Given the description of an element on the screen output the (x, y) to click on. 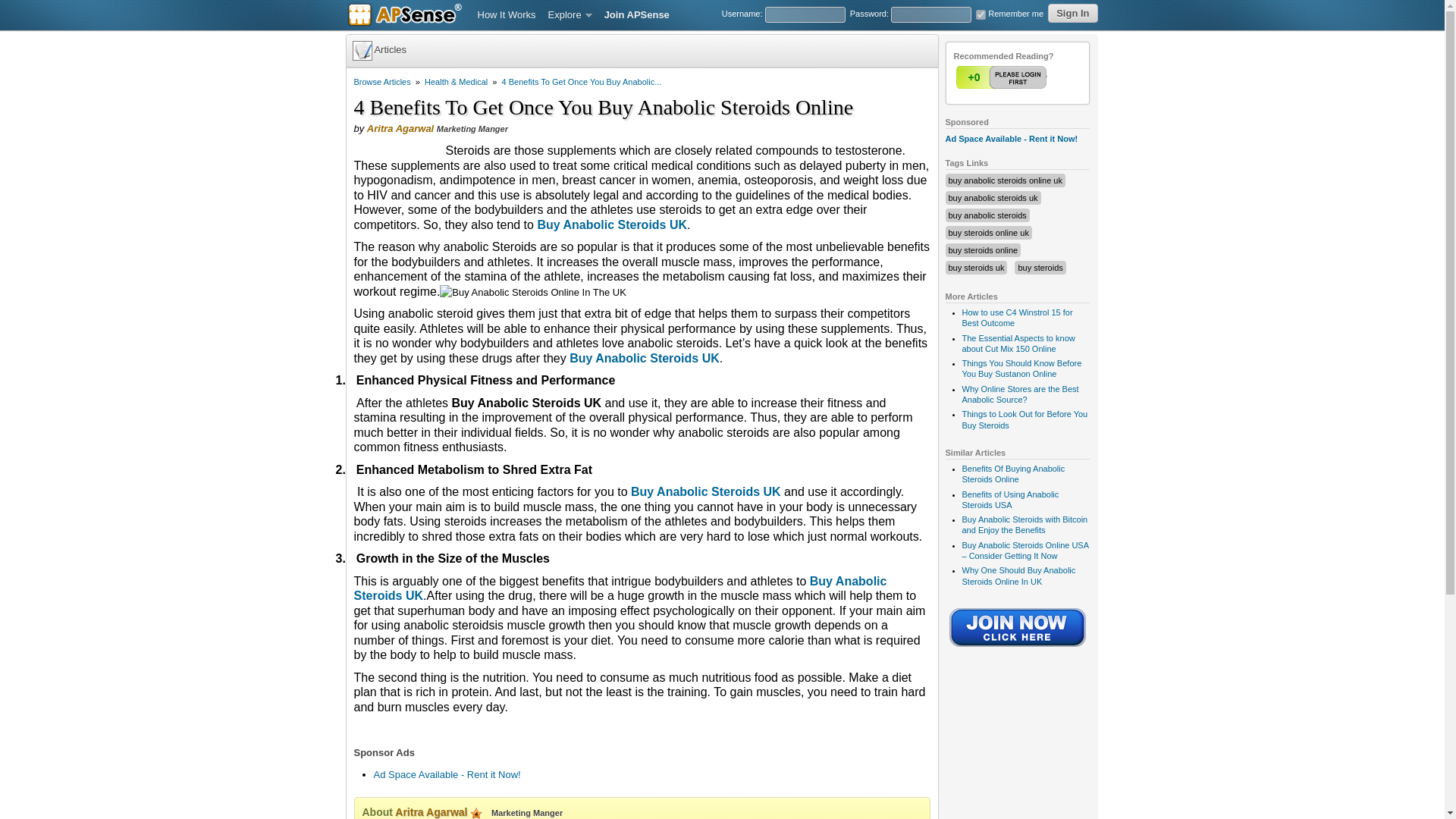
buy steroids online uk (987, 232)
Things to Look Out for Before You Buy Steroids (1023, 419)
Buy Anabolic Steroids UK (644, 358)
Things You Should Know Before You Buy Sustanon Online (1020, 368)
4 Benefits To Get Once You Buy Anabolic... (582, 81)
Why One Should Buy Anabolic Steroids Online In UK (1017, 575)
Aritra Agarwal (399, 128)
-1 (1031, 77)
Benefits of Using Anabolic Steroids USA (1009, 499)
1 (1002, 77)
Ad Space Available - Rent it Now! (1010, 138)
Ad Space Available - Rent it Now! (445, 774)
buy anabolic steroids online uk (1004, 180)
How to use C4 Winstrol 15 for Best Outcome (1015, 317)
Buy Anabolic Steroids UK (619, 588)
